Given the description of an element on the screen output the (x, y) to click on. 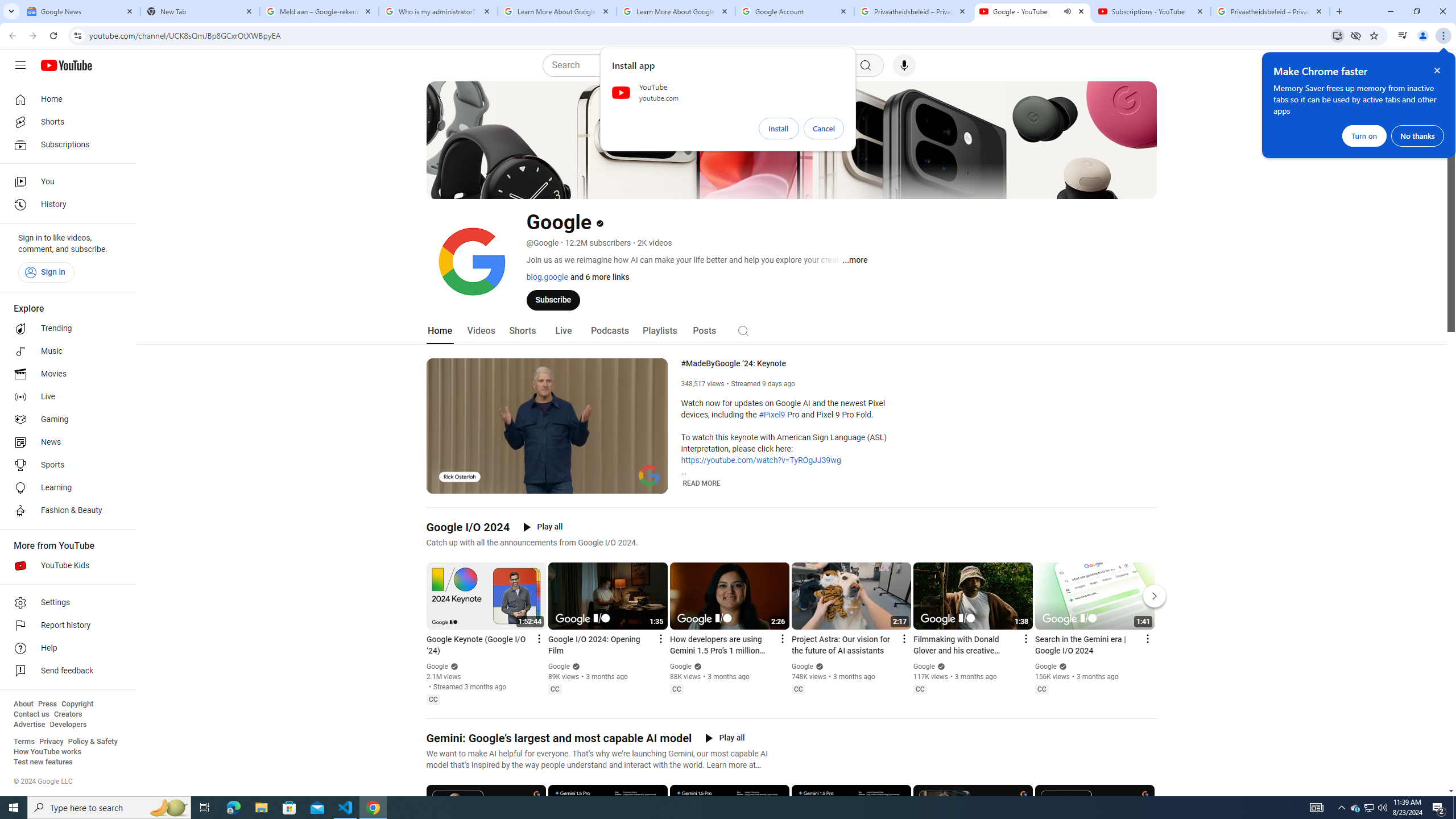
Press (46, 703)
News (64, 441)
Close help bubble (1436, 69)
Cancel (823, 128)
New Tab (199, 11)
Sports (64, 464)
Seek slider (546, 471)
Google - YouTube - Audio playing (1032, 11)
